Given the description of an element on the screen output the (x, y) to click on. 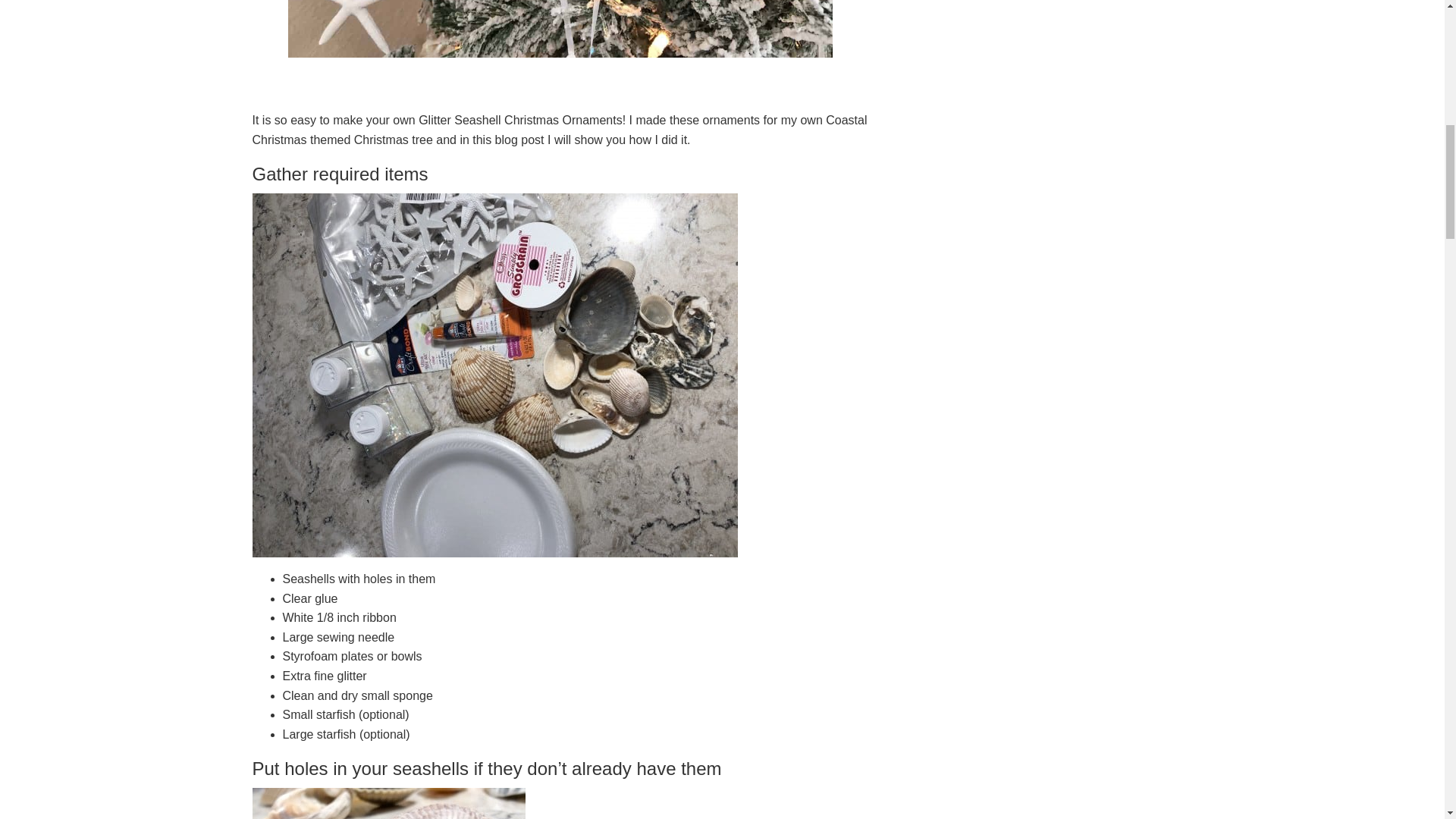
DIY Glitter Seashell Christmas Ornaments (560, 28)
